Given the description of an element on the screen output the (x, y) to click on. 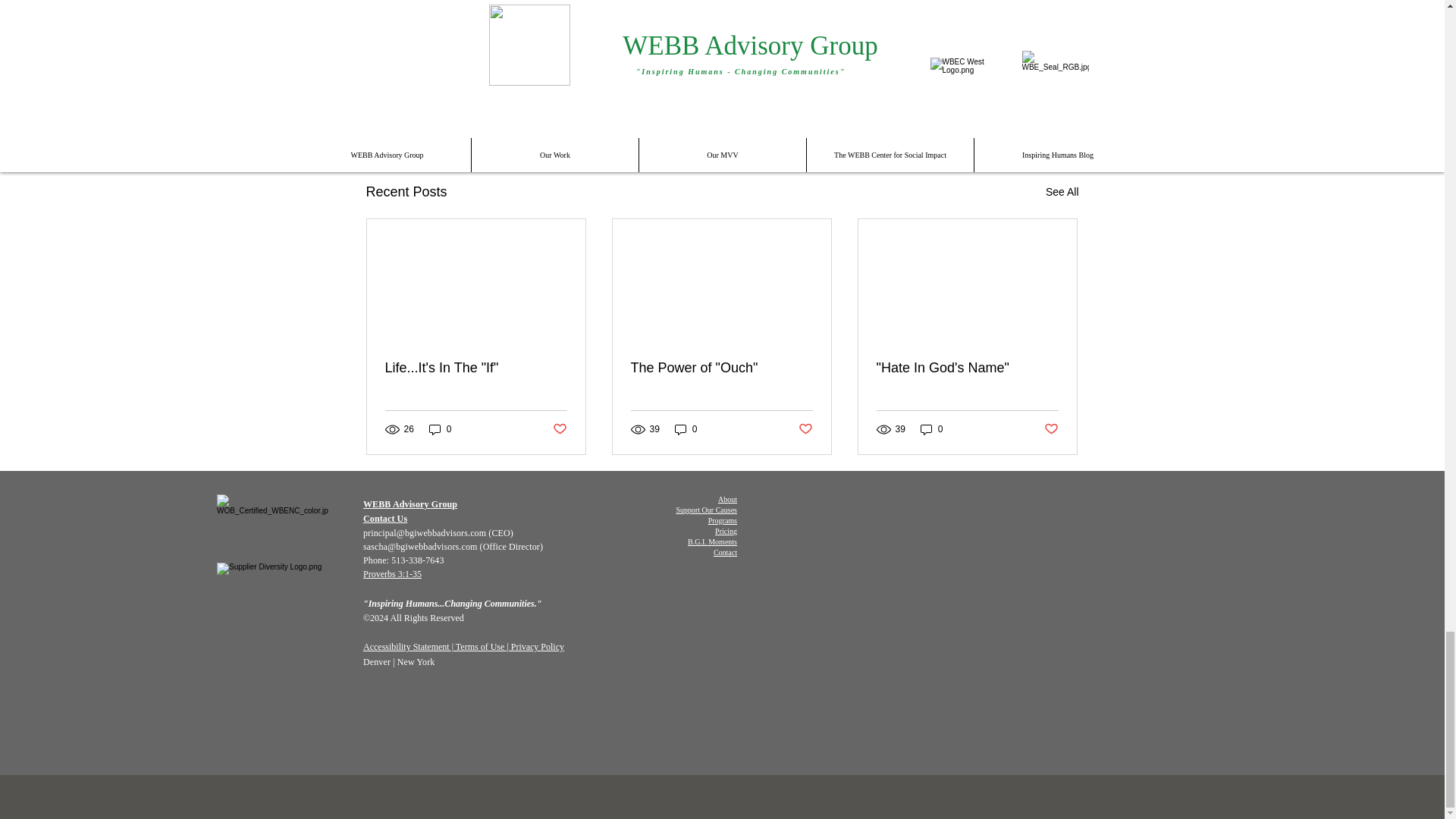
0 (440, 429)
Life...It's In The "If" (990, 109)
Post not marked as liked (476, 367)
See All (558, 428)
